Given the description of an element on the screen output the (x, y) to click on. 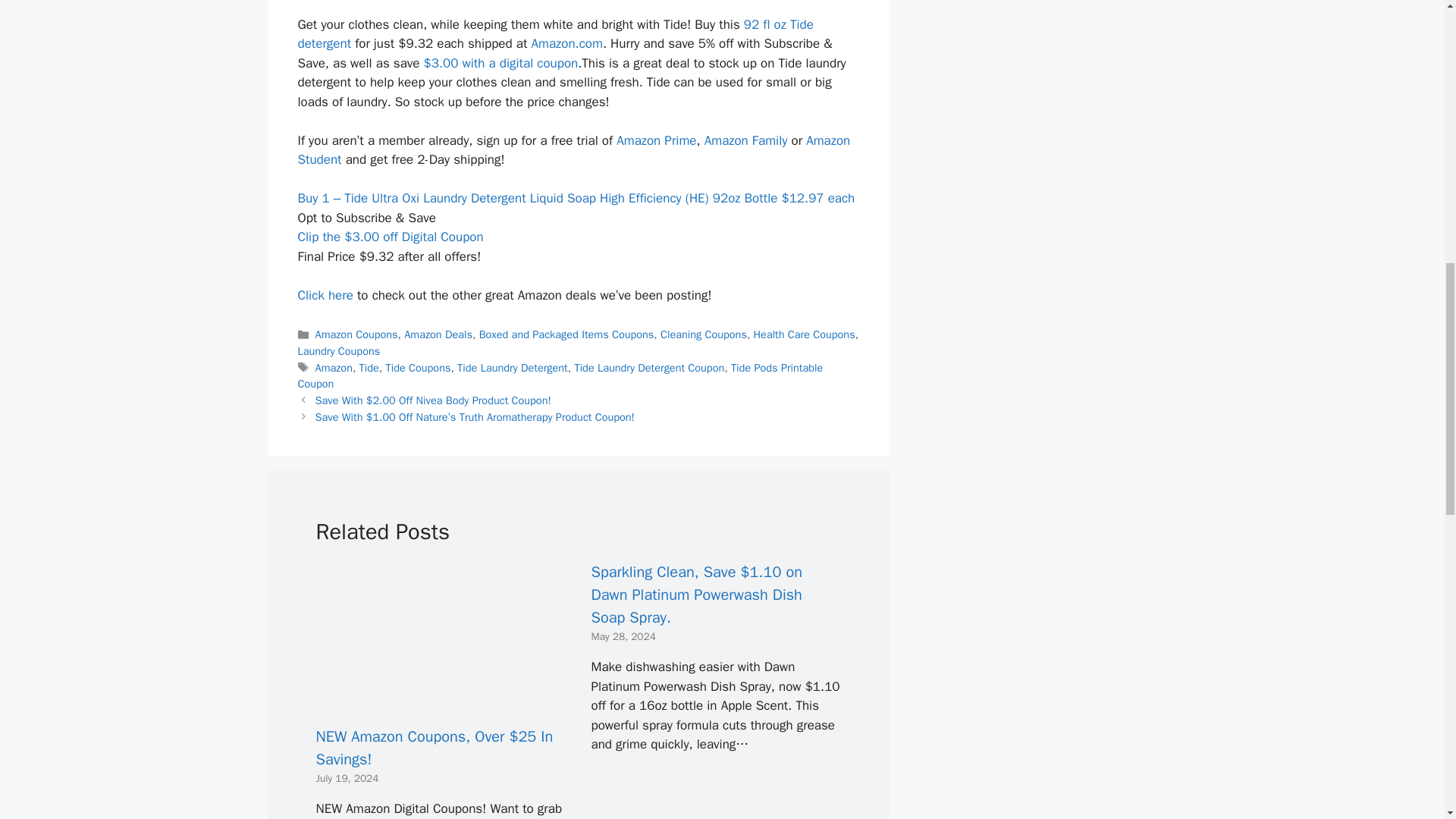
8:50 PM (346, 778)
5:50 PM (623, 635)
